Given the description of an element on the screen output the (x, y) to click on. 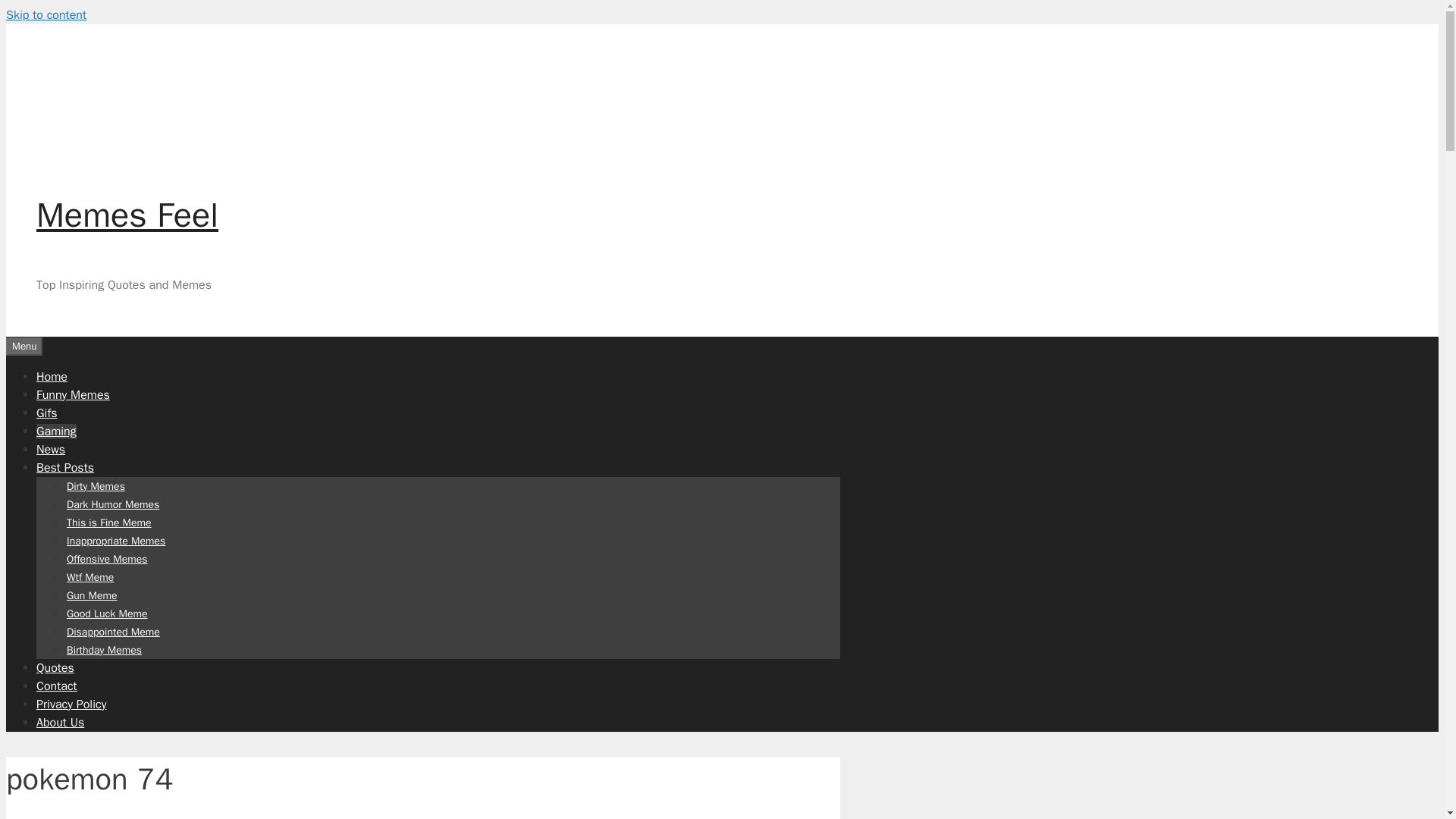
Good Luck Meme (107, 612)
Privacy Policy (71, 703)
About Us (60, 721)
Inappropriate Memes (115, 540)
Disappointed Meme (113, 631)
Menu (23, 345)
Best Posts (65, 467)
Offensive Memes (107, 558)
Gifs (46, 412)
Dirty Memes (95, 485)
Gaming (56, 430)
Skip to content (45, 14)
Memes Feel (127, 215)
Wtf Meme (89, 576)
Dark Humor Memes (112, 503)
